Given the description of an element on the screen output the (x, y) to click on. 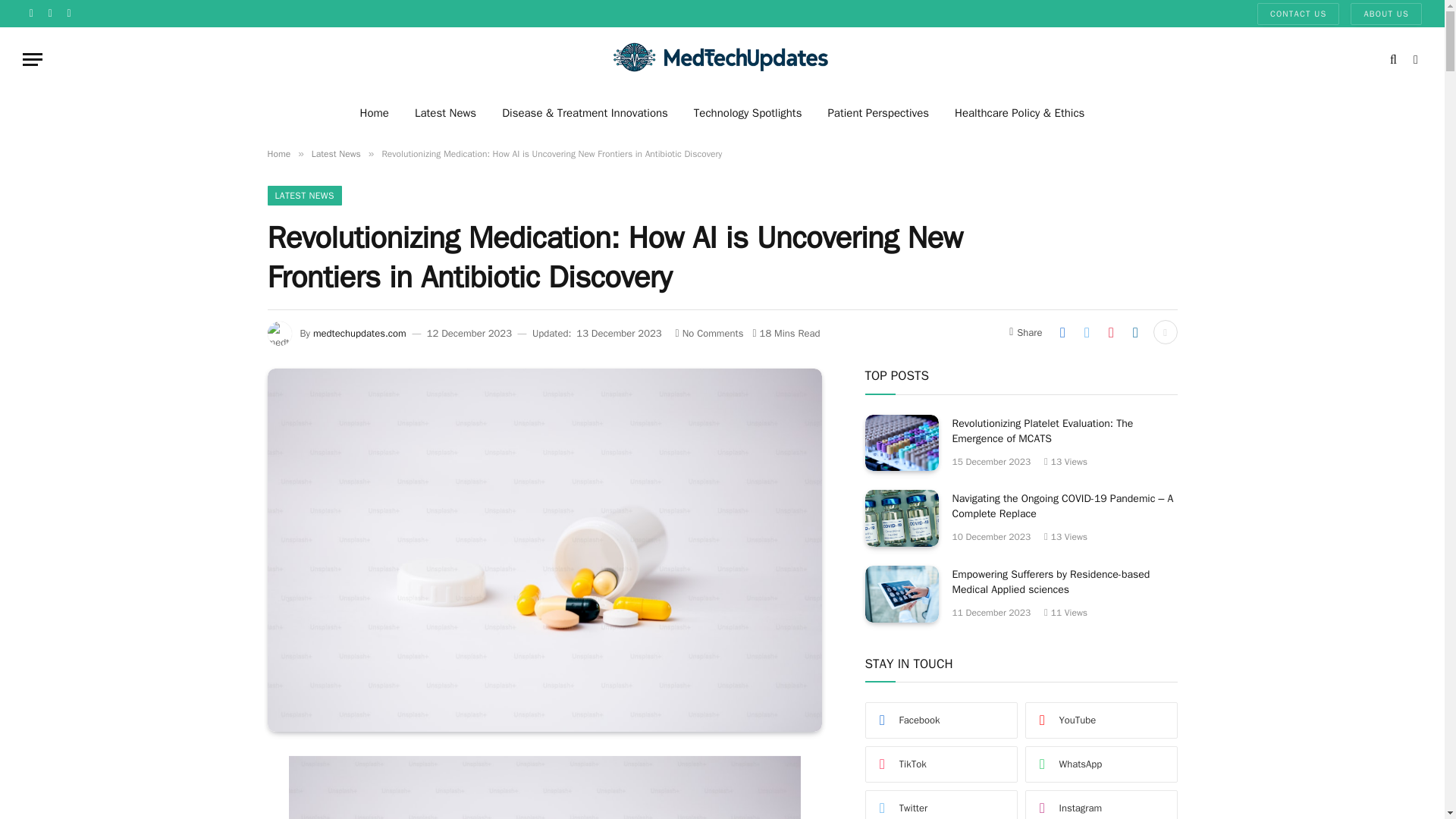
Patient Perspectives (877, 112)
CONTACT US (1298, 14)
MedTechUpdates (721, 59)
Home (277, 153)
Instagram (69, 13)
Posts by medtechupdates.com (359, 332)
Latest News (336, 153)
Share on Facebook (1062, 331)
ABOUT US (1386, 14)
Home (374, 112)
Latest News (445, 112)
Technology Spotlights (748, 112)
Search (1393, 59)
Switch to Dark Design - easier on eyes. (1414, 59)
Facebook (31, 13)
